Given the description of an element on the screen output the (x, y) to click on. 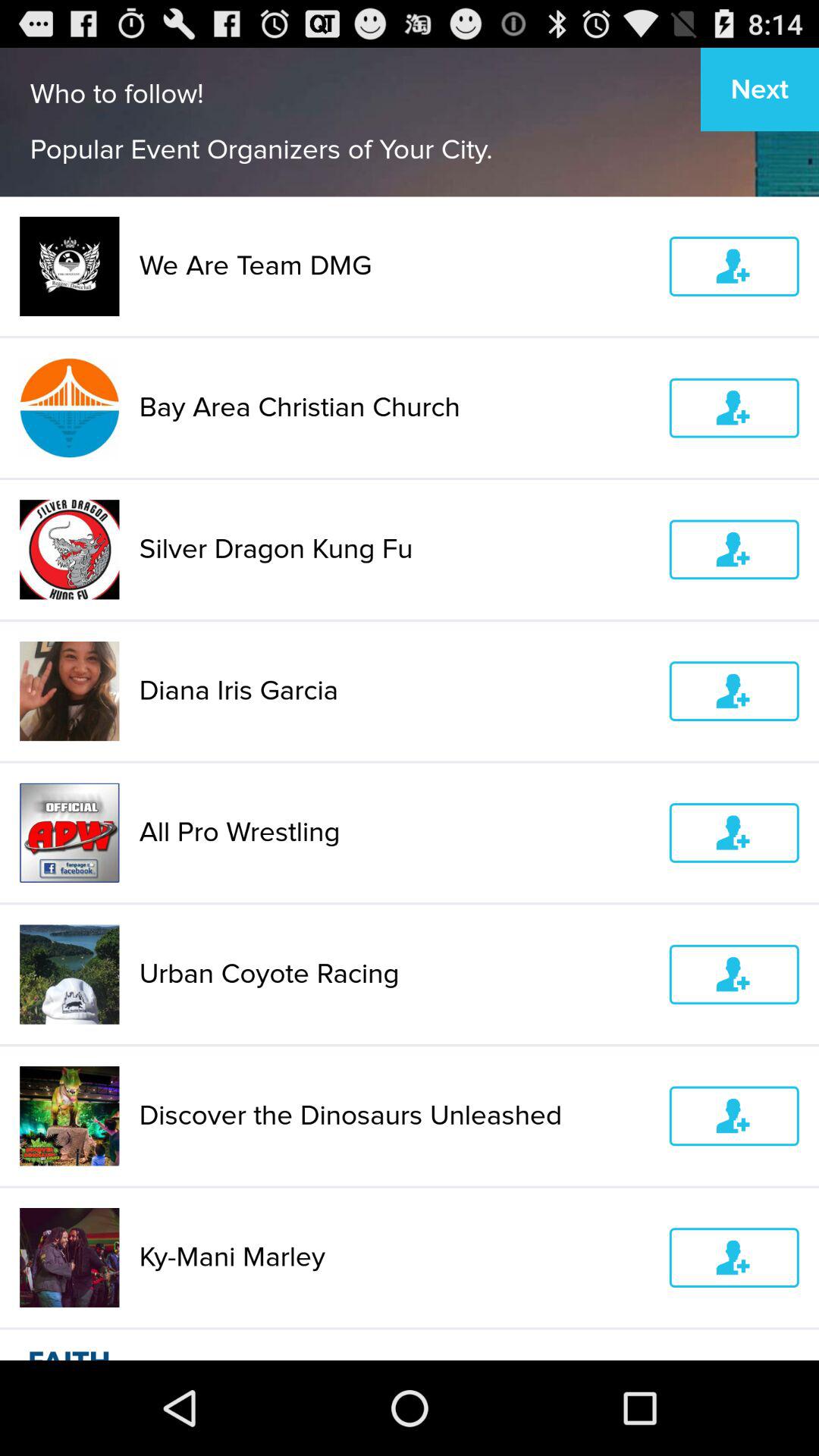
open item below the who to follow item (394, 265)
